Given the description of an element on the screen output the (x, y) to click on. 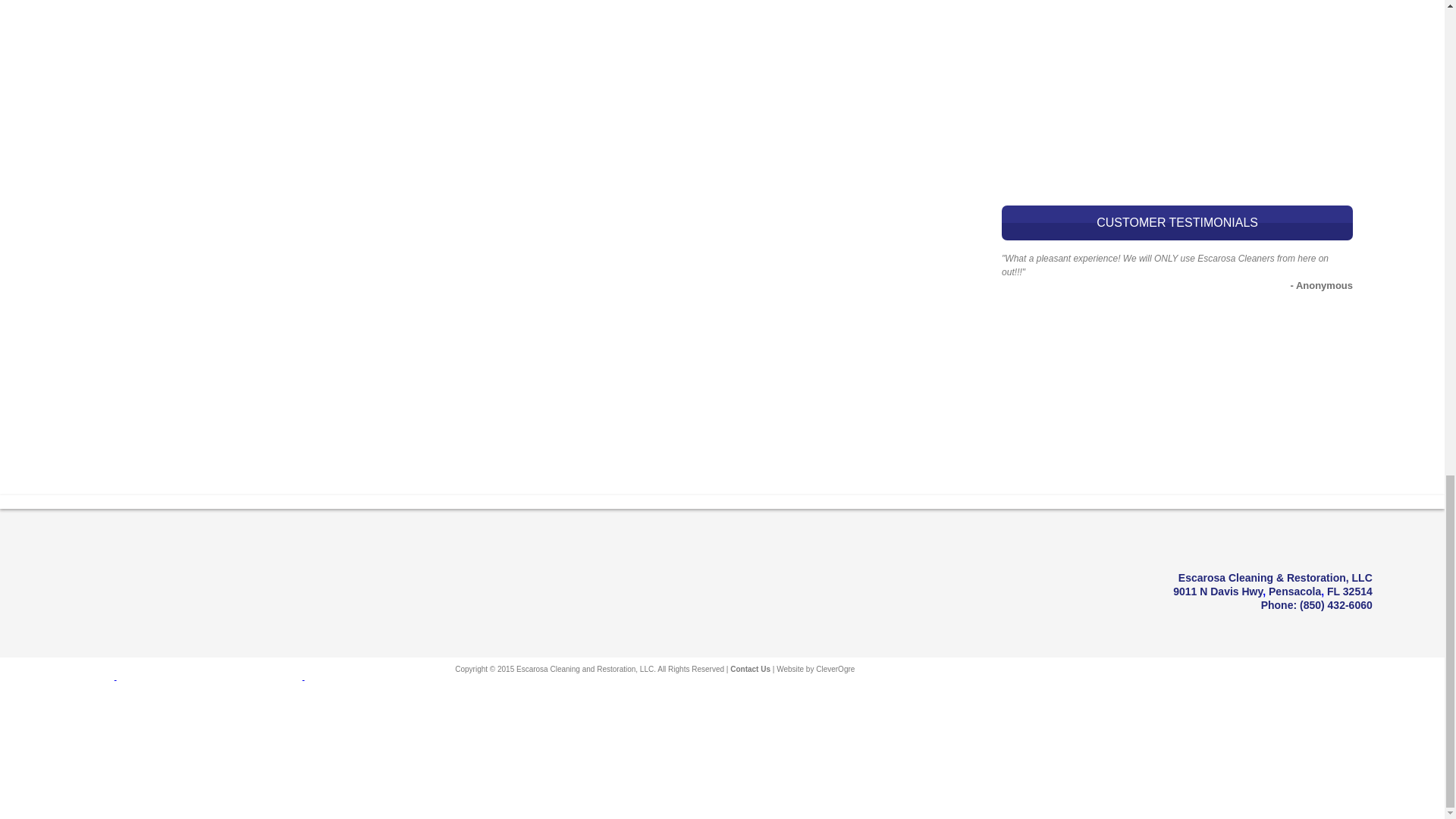
Call us today! (1336, 604)
Find out more about our location (1273, 591)
Better Business Bureau (93, 676)
IICRC Carpet Cleaning Certified (90, 791)
Normi Certified Mold Inspectors (243, 676)
Anabec Systems (362, 676)
